Given the description of an element on the screen output the (x, y) to click on. 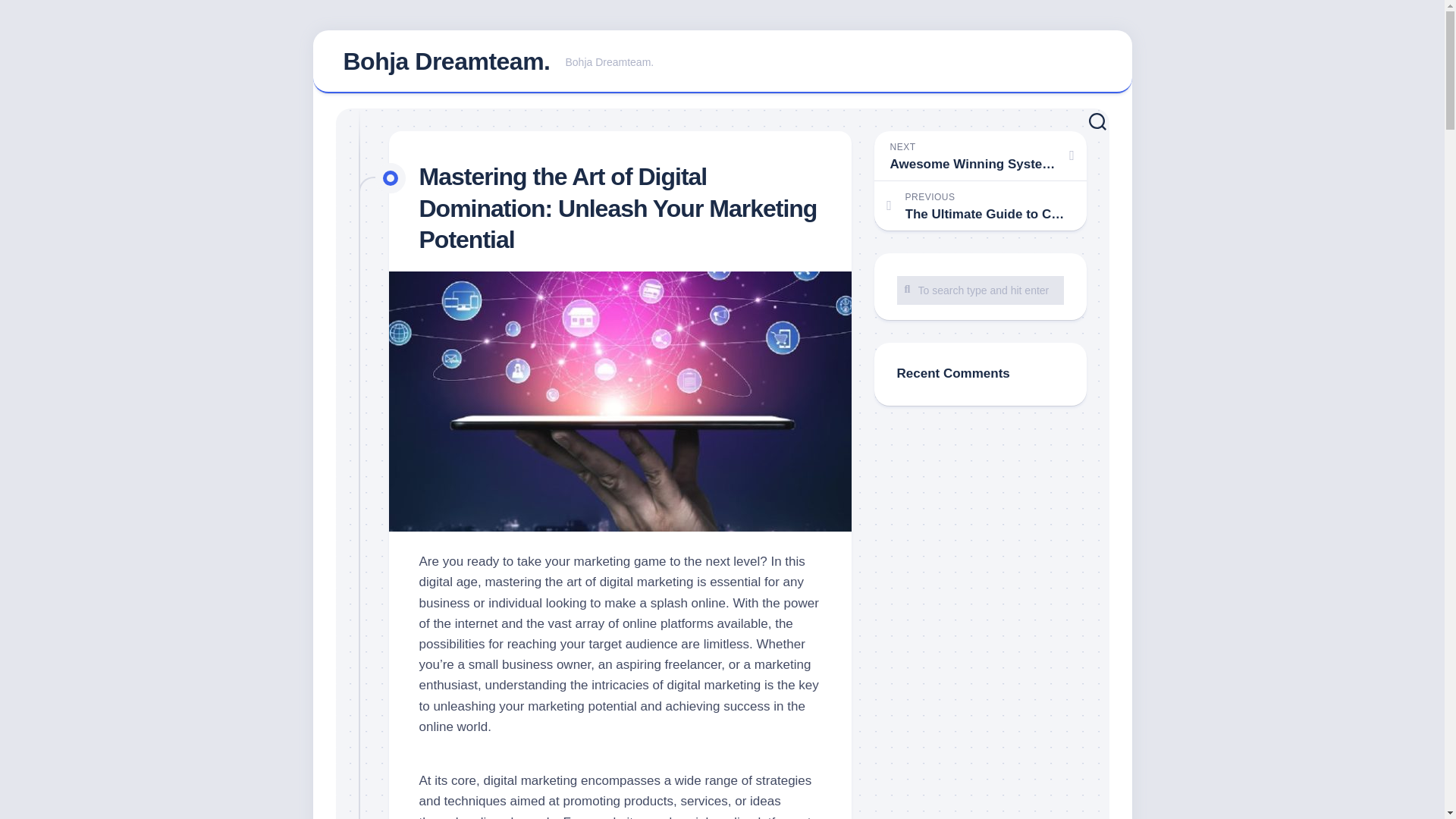
Bohja Dreamteam. (722, 62)
To search type and hit enter (446, 61)
To search type and hit enter (979, 155)
